Given the description of an element on the screen output the (x, y) to click on. 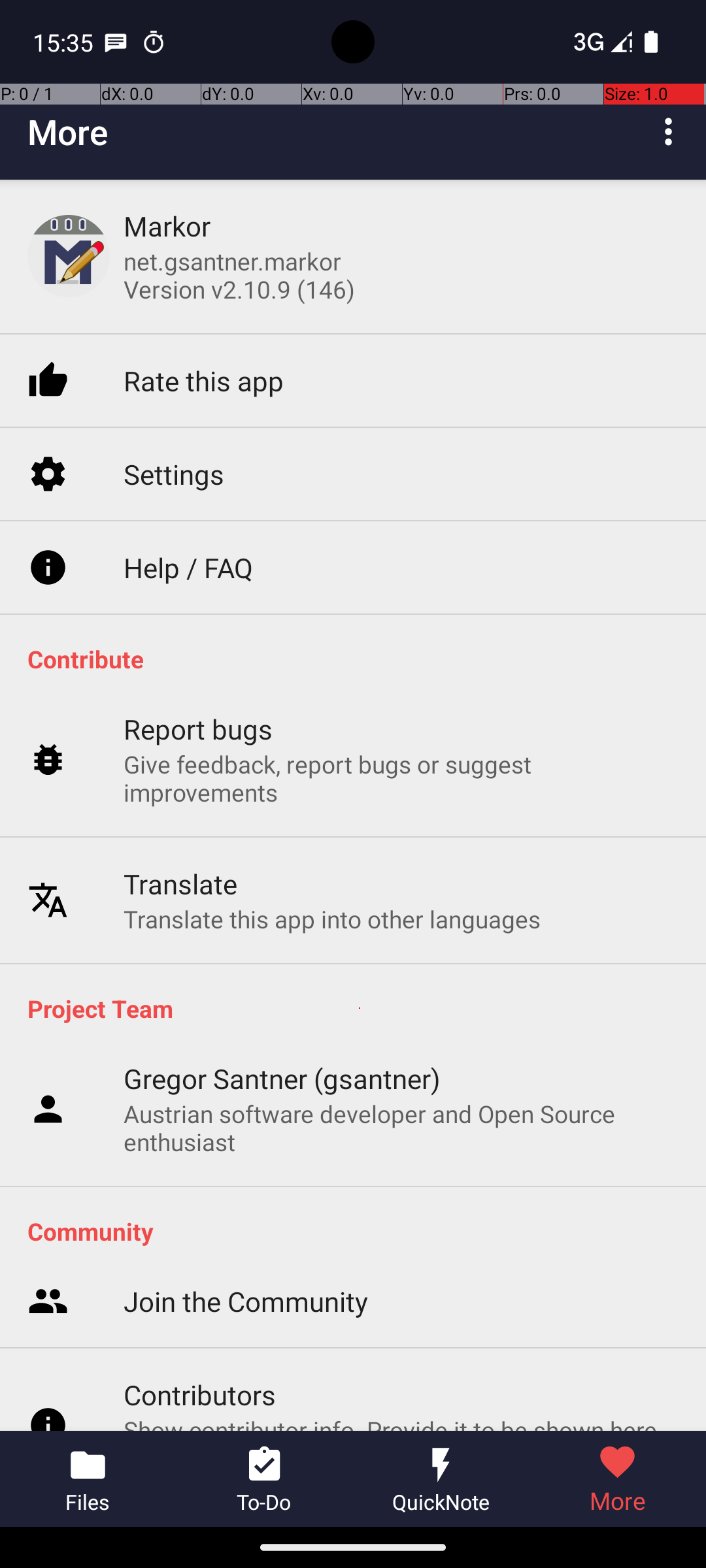
SMS Messenger notification: Freya Hernandez Element type: android.widget.ImageView (115, 41)
